Given the description of an element on the screen output the (x, y) to click on. 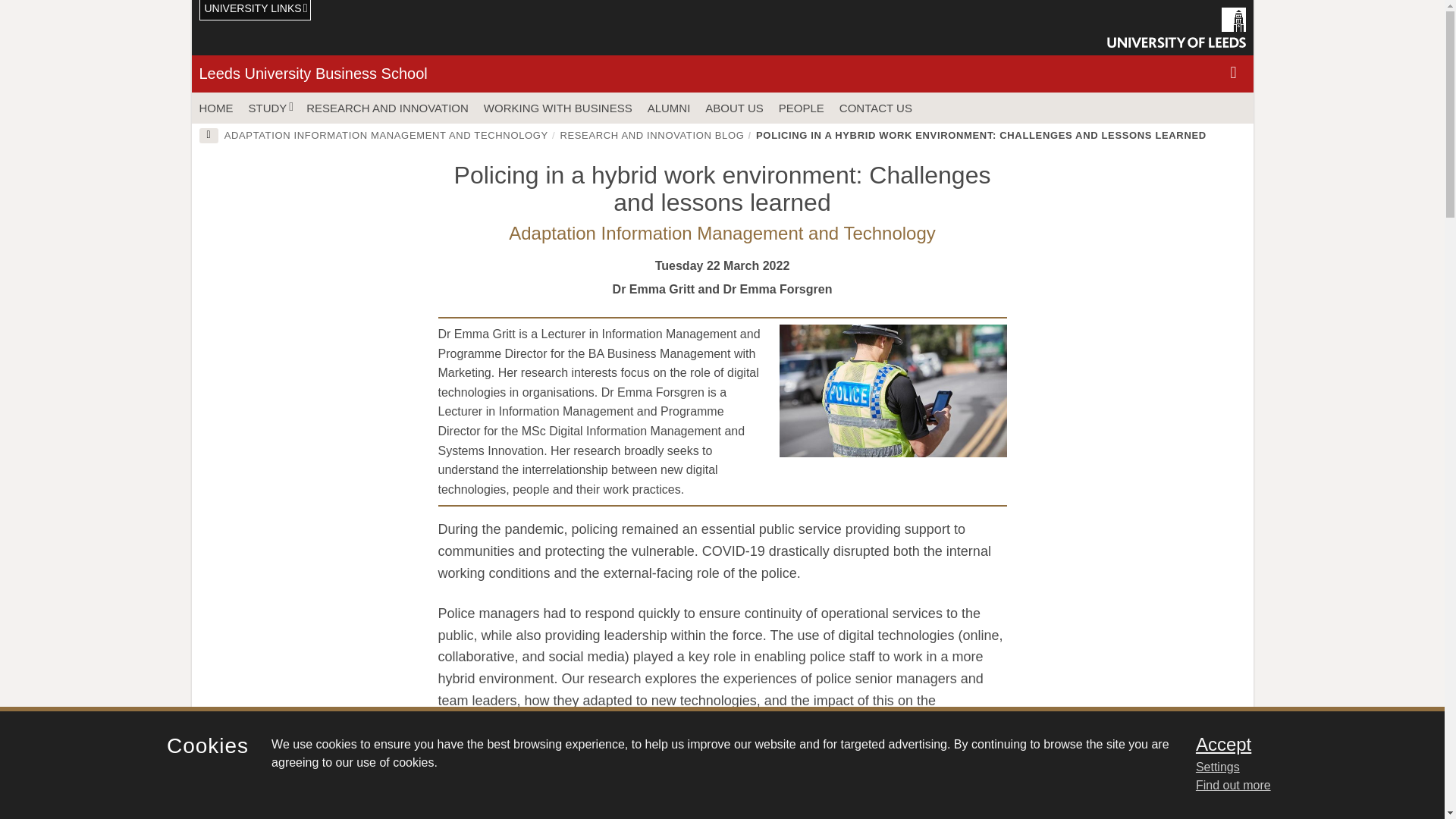
University of Leeds homepage (1176, 27)
Accept (1300, 744)
Settings (1300, 767)
UNIVERSITY LINKS (254, 10)
Find out more (1233, 784)
